Given the description of an element on the screen output the (x, y) to click on. 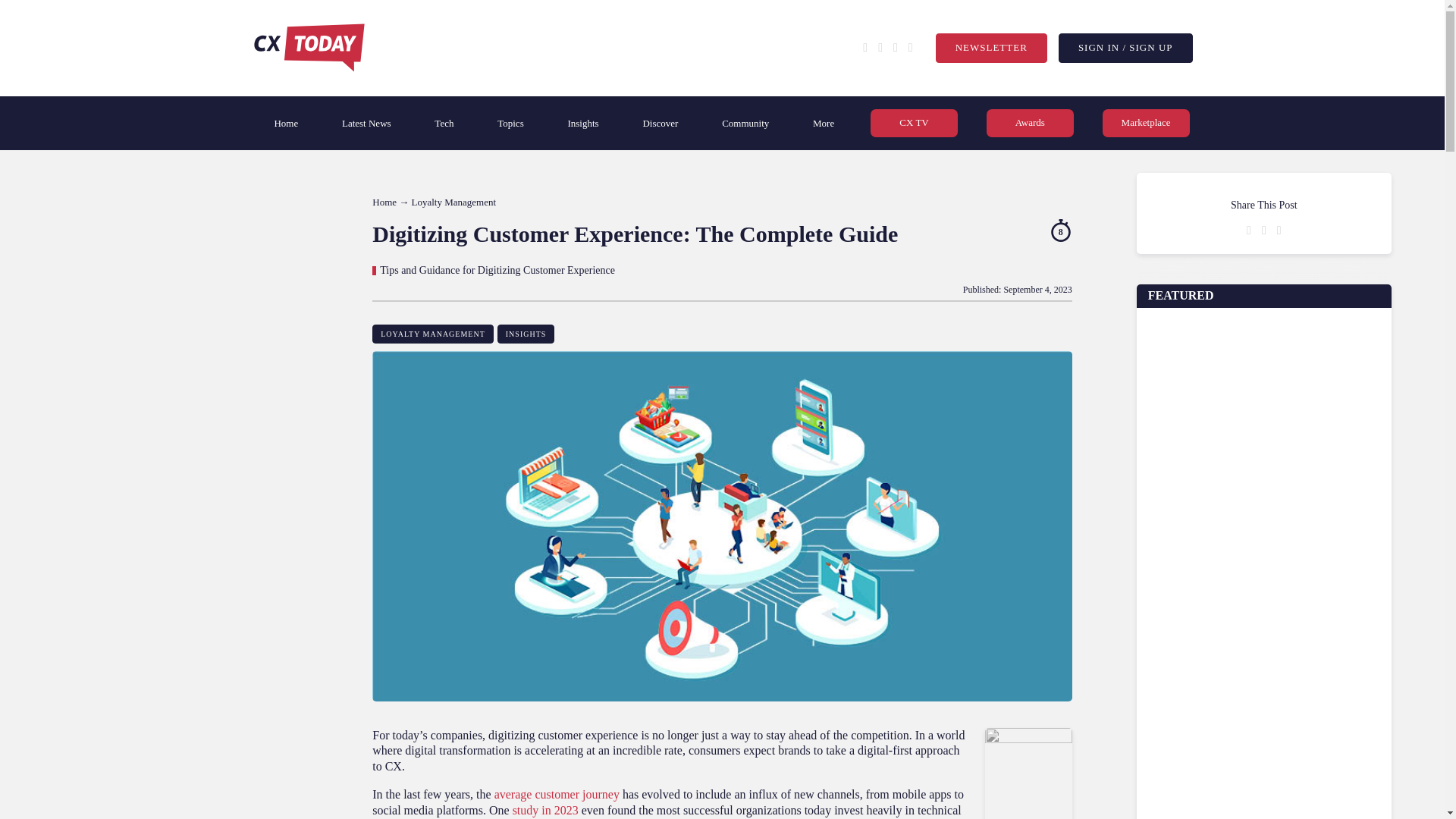
Latest News (366, 122)
Topics (510, 122)
Discover (659, 122)
NEWSLETTER (991, 48)
Insights (582, 122)
Home (285, 122)
Tech (443, 122)
